Given the description of an element on the screen output the (x, y) to click on. 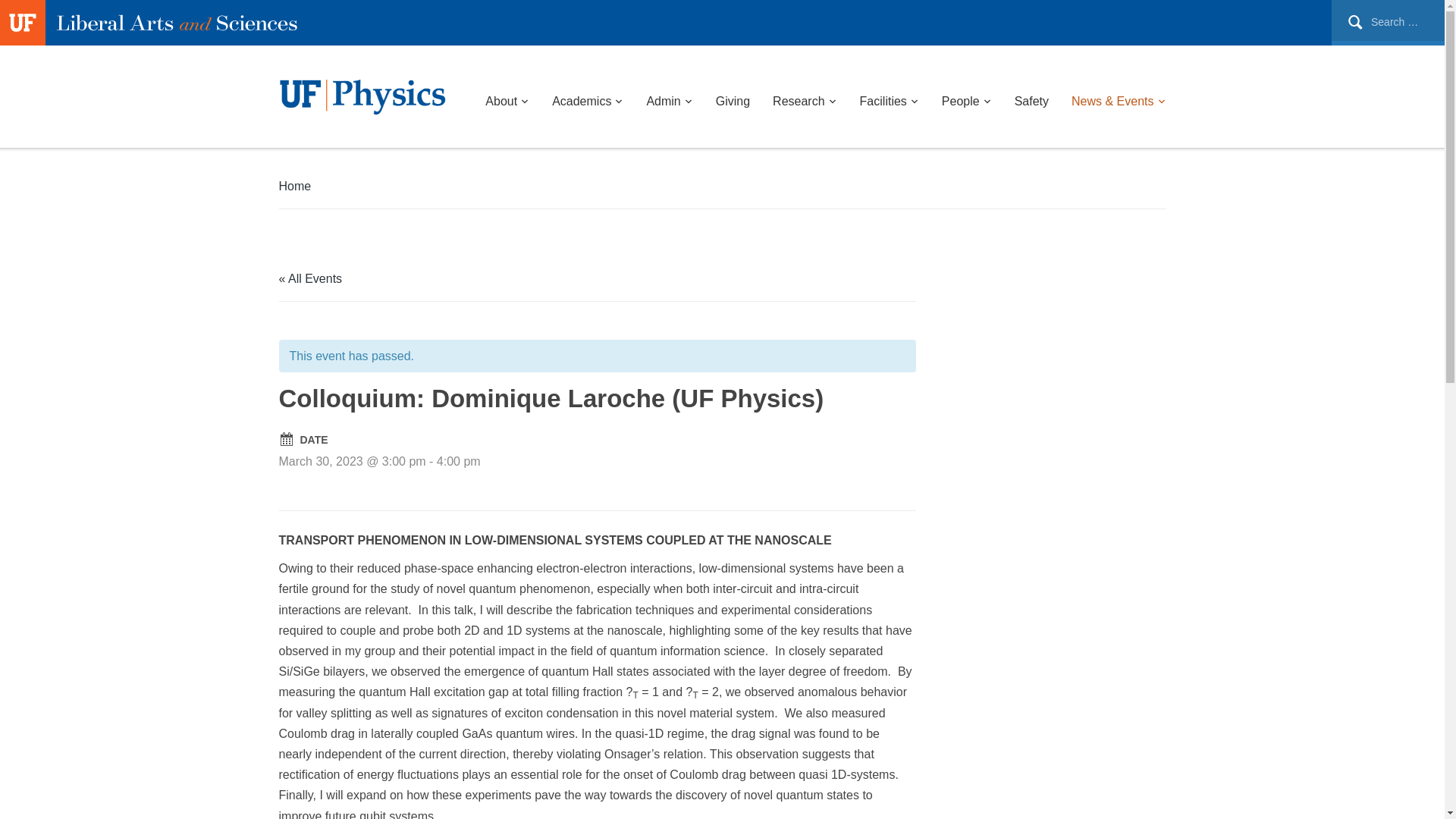
University of Florida (22, 41)
